Given the description of an element on the screen output the (x, y) to click on. 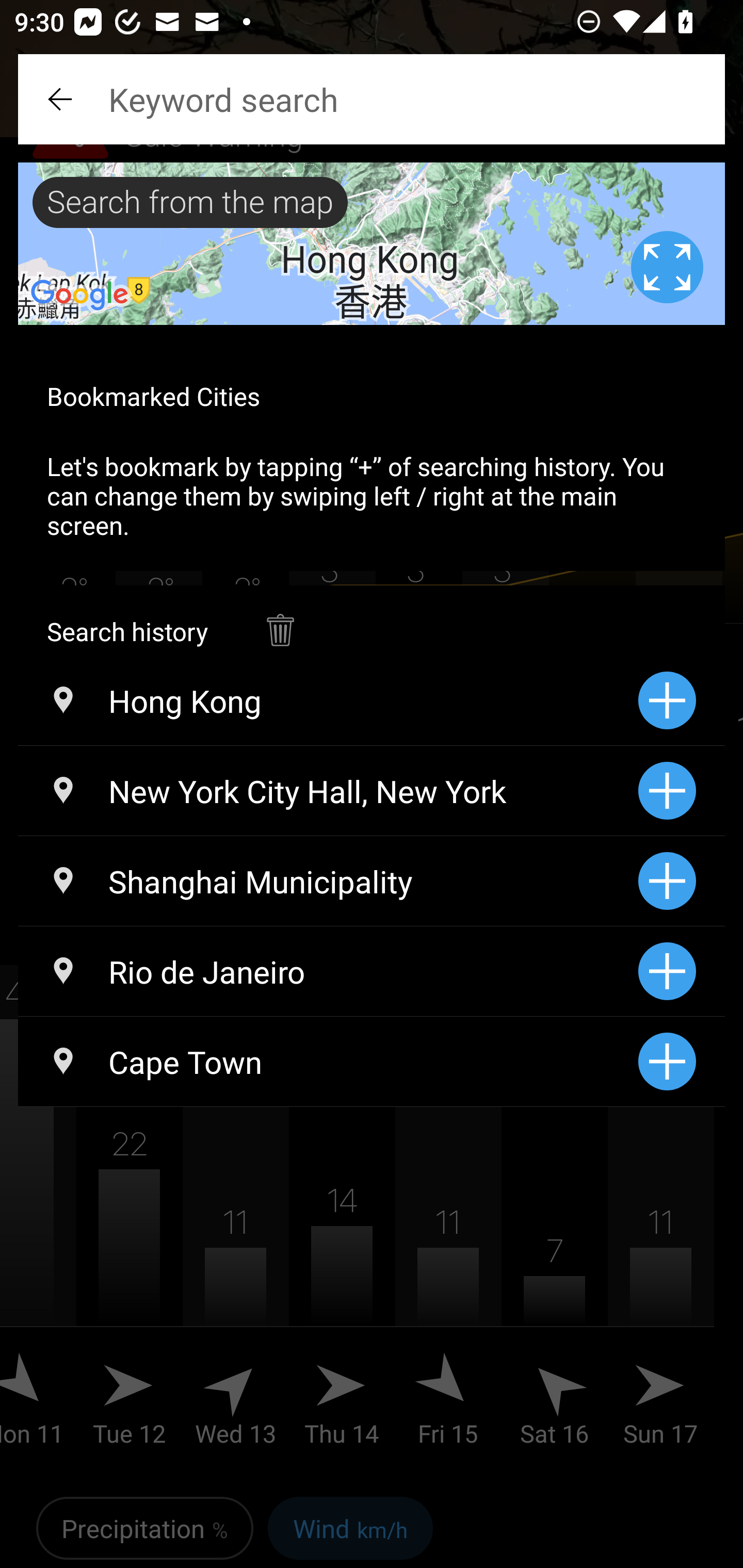
Keyword search (371, 99)
 (61, 99)
 (280, 619)
 Hong Kong (327, 700)
 New York City Hall, New York (327, 790)
 Shanghai Municipality (327, 880)
 Rio de Janeiro (327, 971)
 Cape Town (327, 1061)
